Given the description of an element on the screen output the (x, y) to click on. 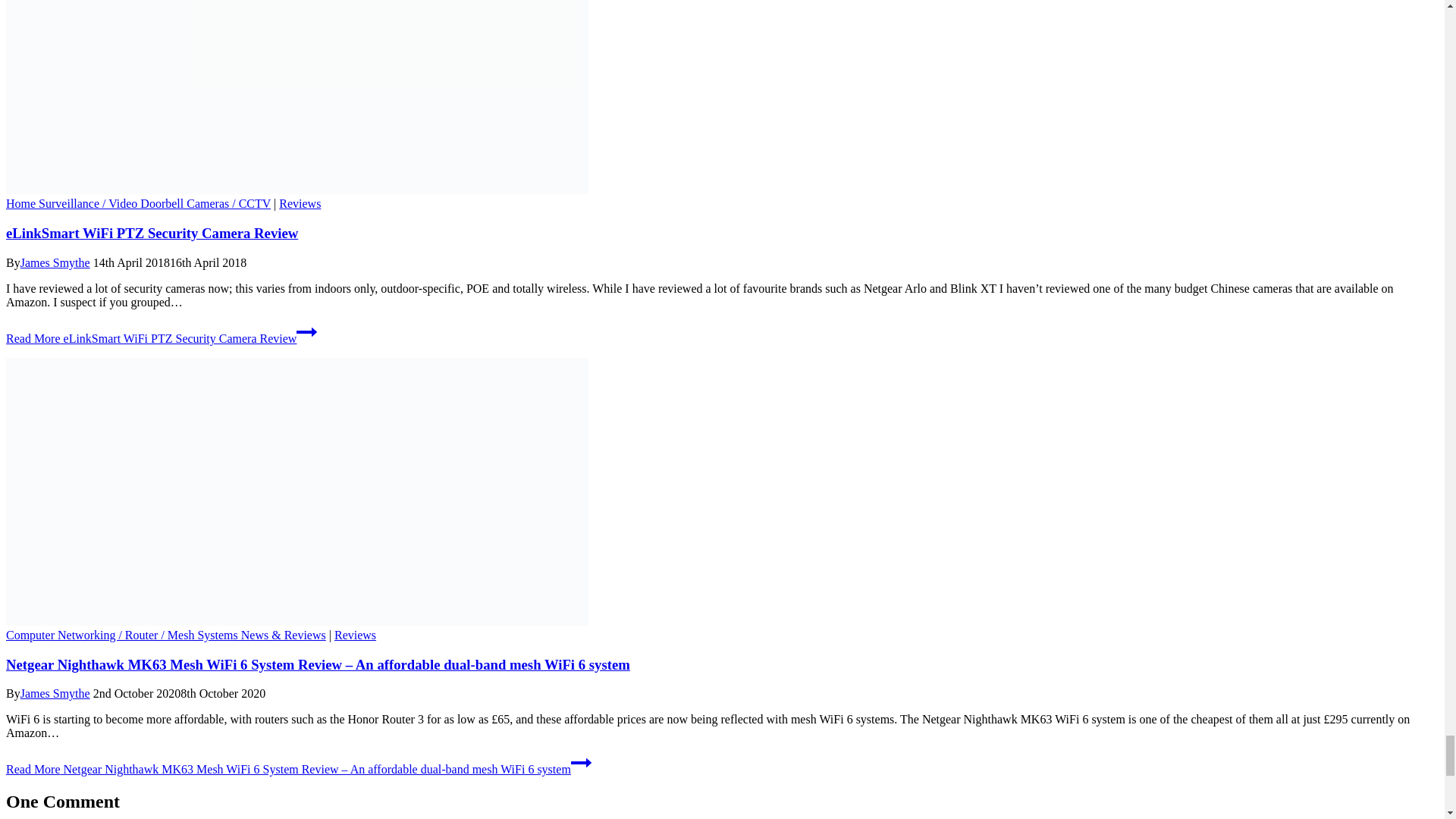
Continue (580, 762)
Continue (307, 332)
